Given the description of an element on the screen output the (x, y) to click on. 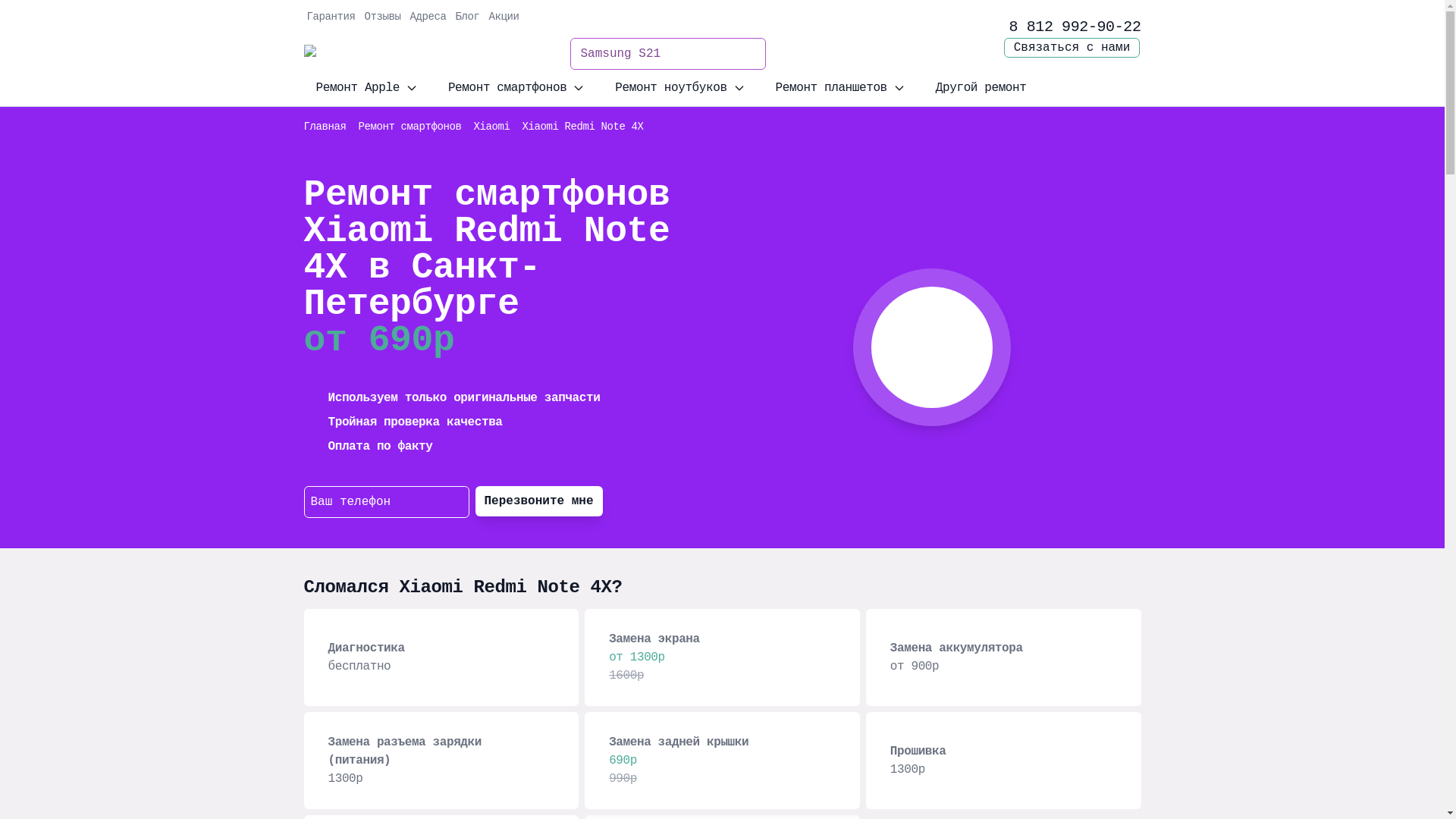
Xiaomi Element type: text (491, 126)
8 812 992-90-22 Element type: text (1074, 26)
